Given the description of an element on the screen output the (x, y) to click on. 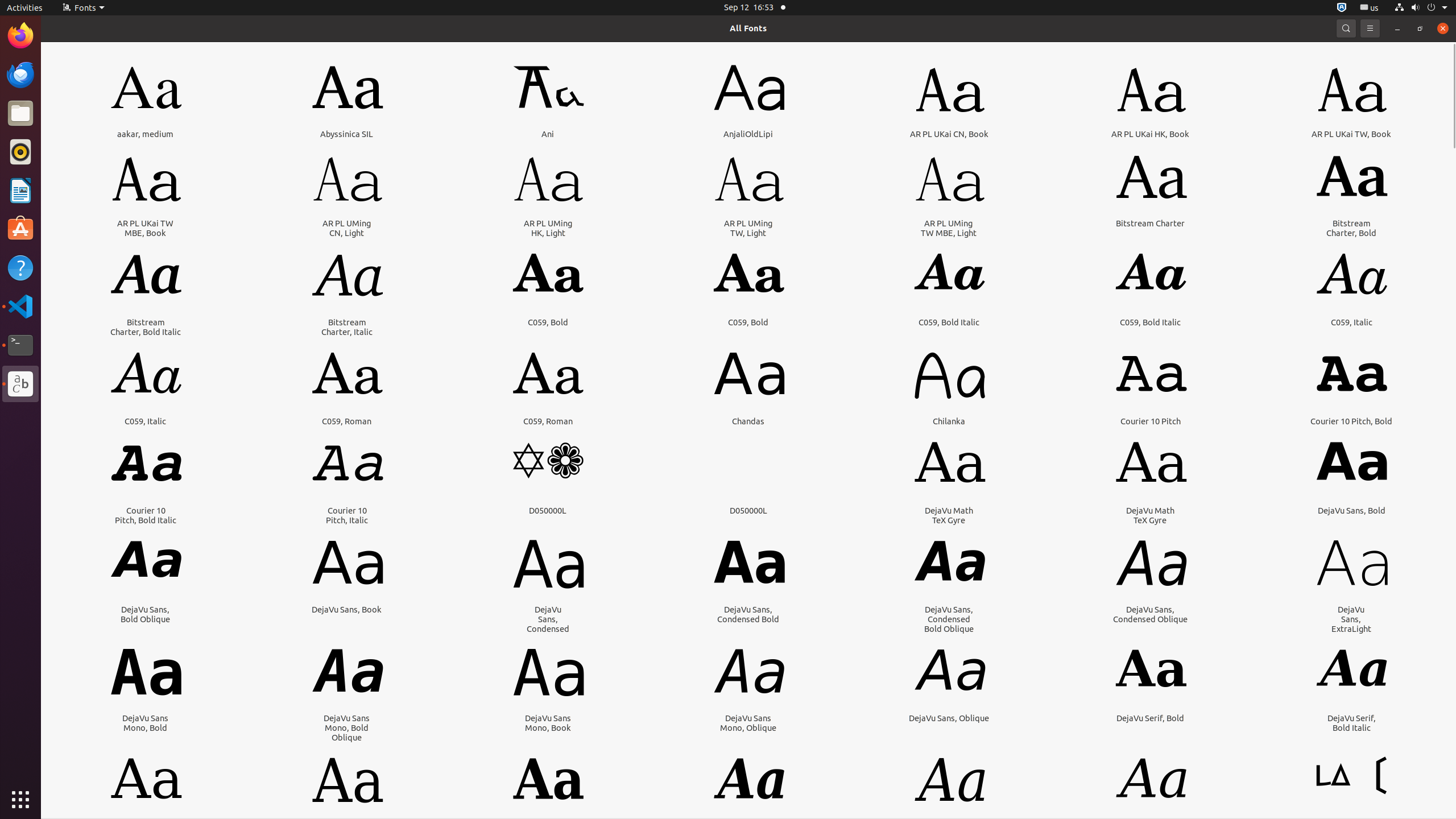
AR PL UKai TW MBE, Book Element type: label (145, 227)
Firefox Web Browser Element type: push-button (20, 35)
Abyssinica SIL Element type: label (346, 133)
